Given the description of an element on the screen output the (x, y) to click on. 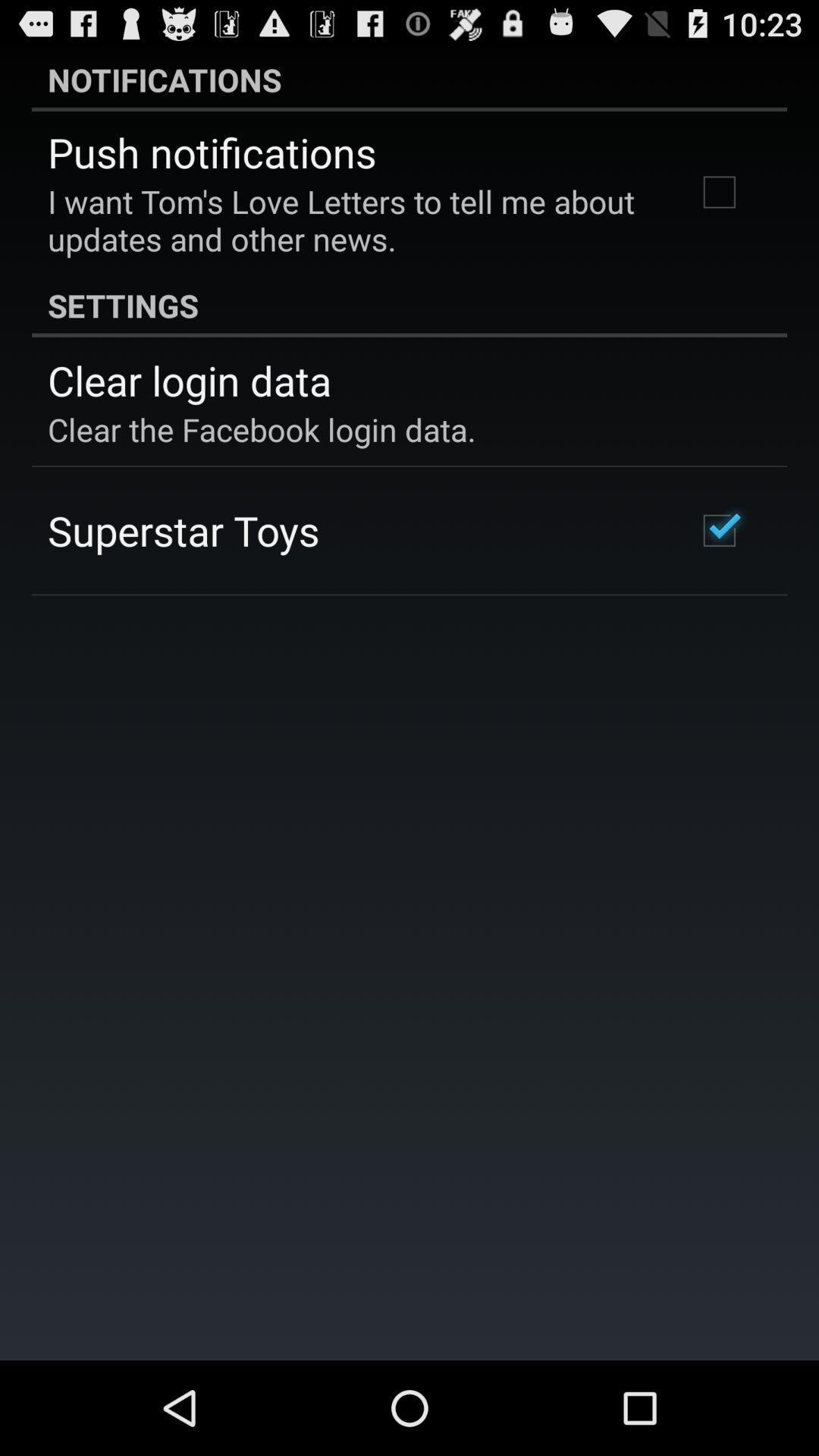
click the push notifications (211, 151)
